Given the description of an element on the screen output the (x, y) to click on. 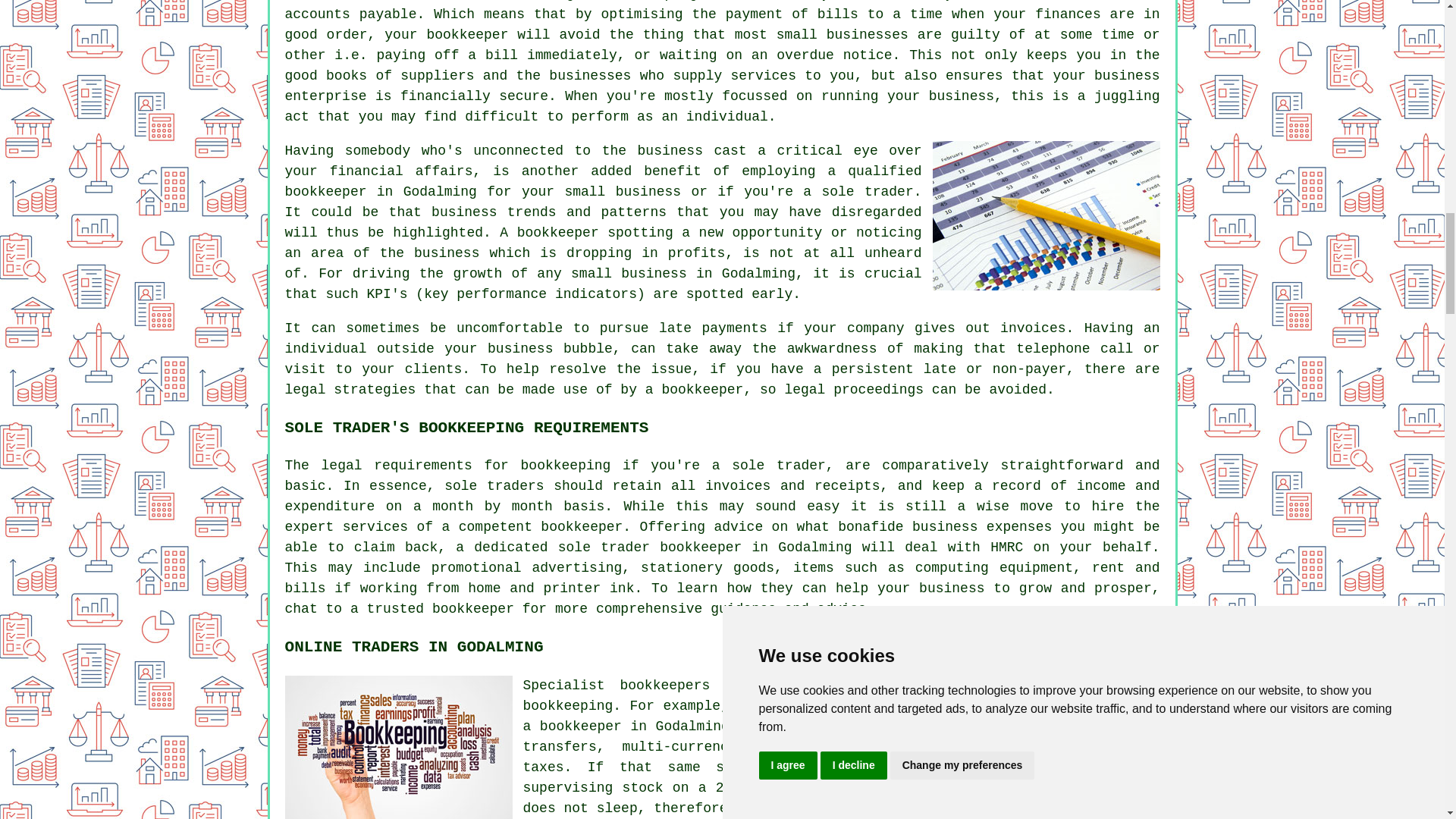
Bookkeeper Near Godalming Surrey (1046, 215)
bookkeepers (665, 685)
Bookkeeping Services Godalming (398, 747)
